Given the description of an element on the screen output the (x, y) to click on. 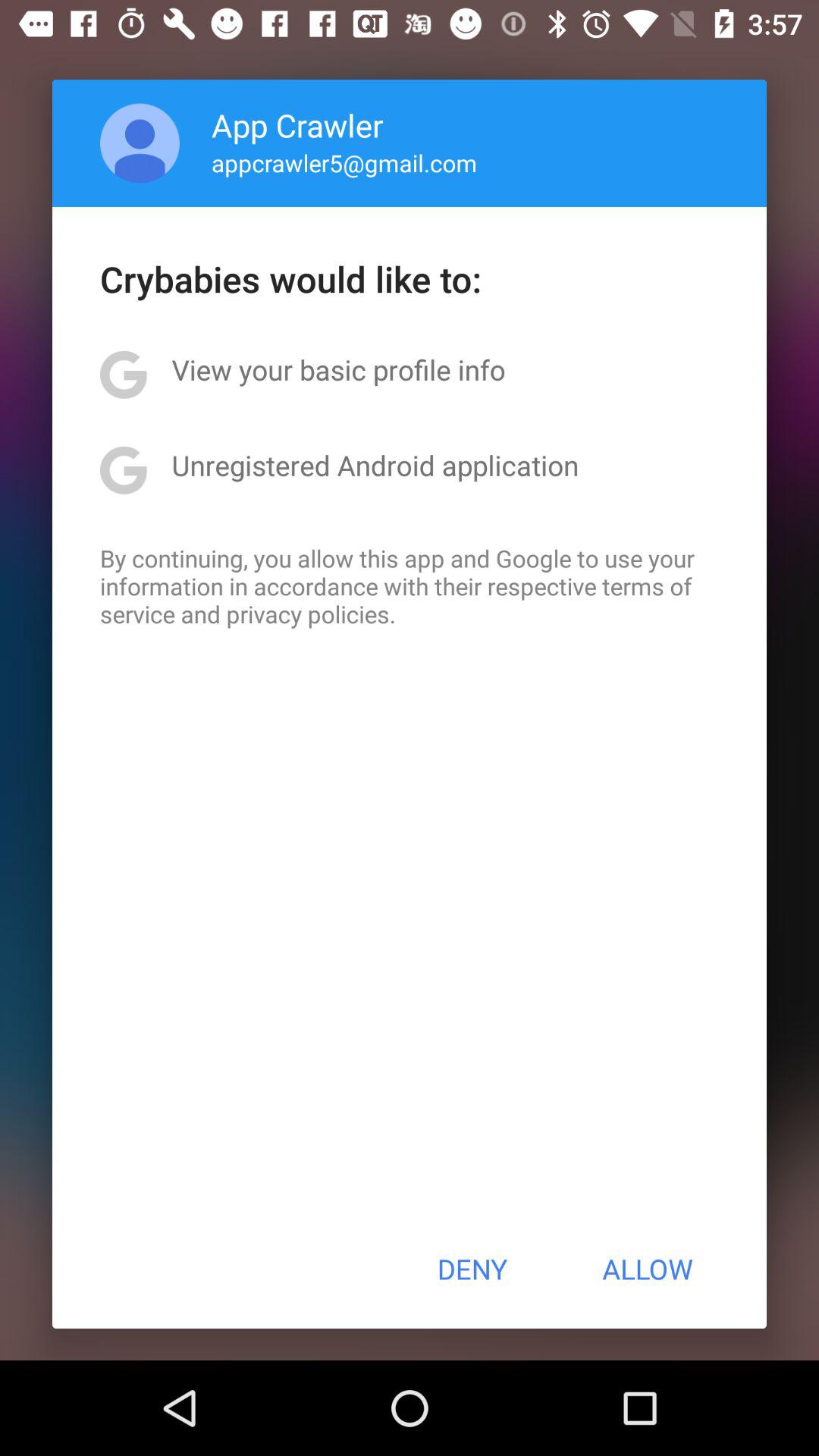
launch app above unregistered android application icon (338, 369)
